Given the description of an element on the screen output the (x, y) to click on. 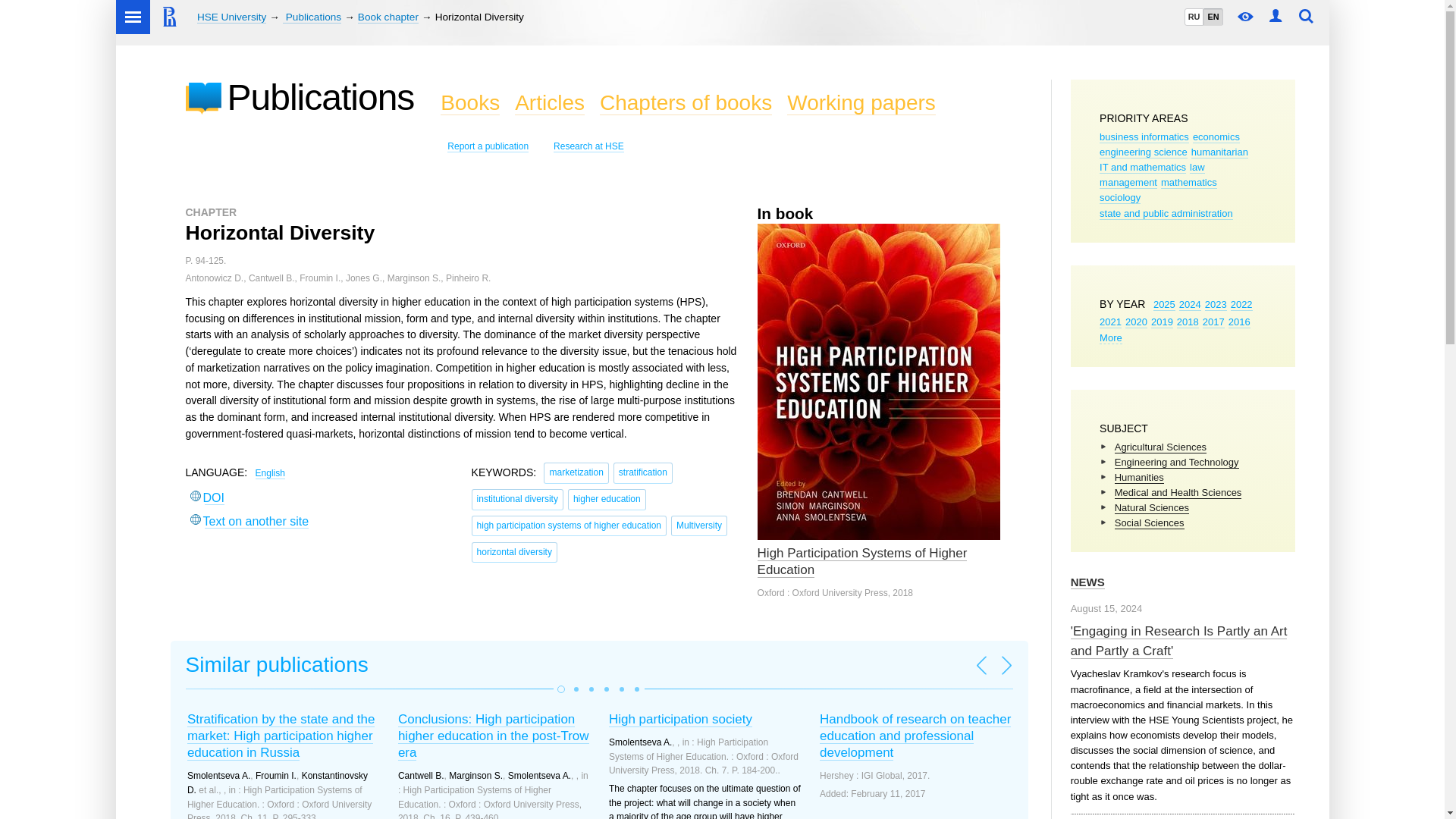
2024 (1190, 304)
2020 (1136, 322)
2025 (1163, 304)
state and public administration (1166, 214)
RU (1194, 17)
Book chapter (388, 17)
mathematics (1188, 182)
2019 (1162, 322)
2022 (1241, 304)
2016 (1239, 322)
